Given the description of an element on the screen output the (x, y) to click on. 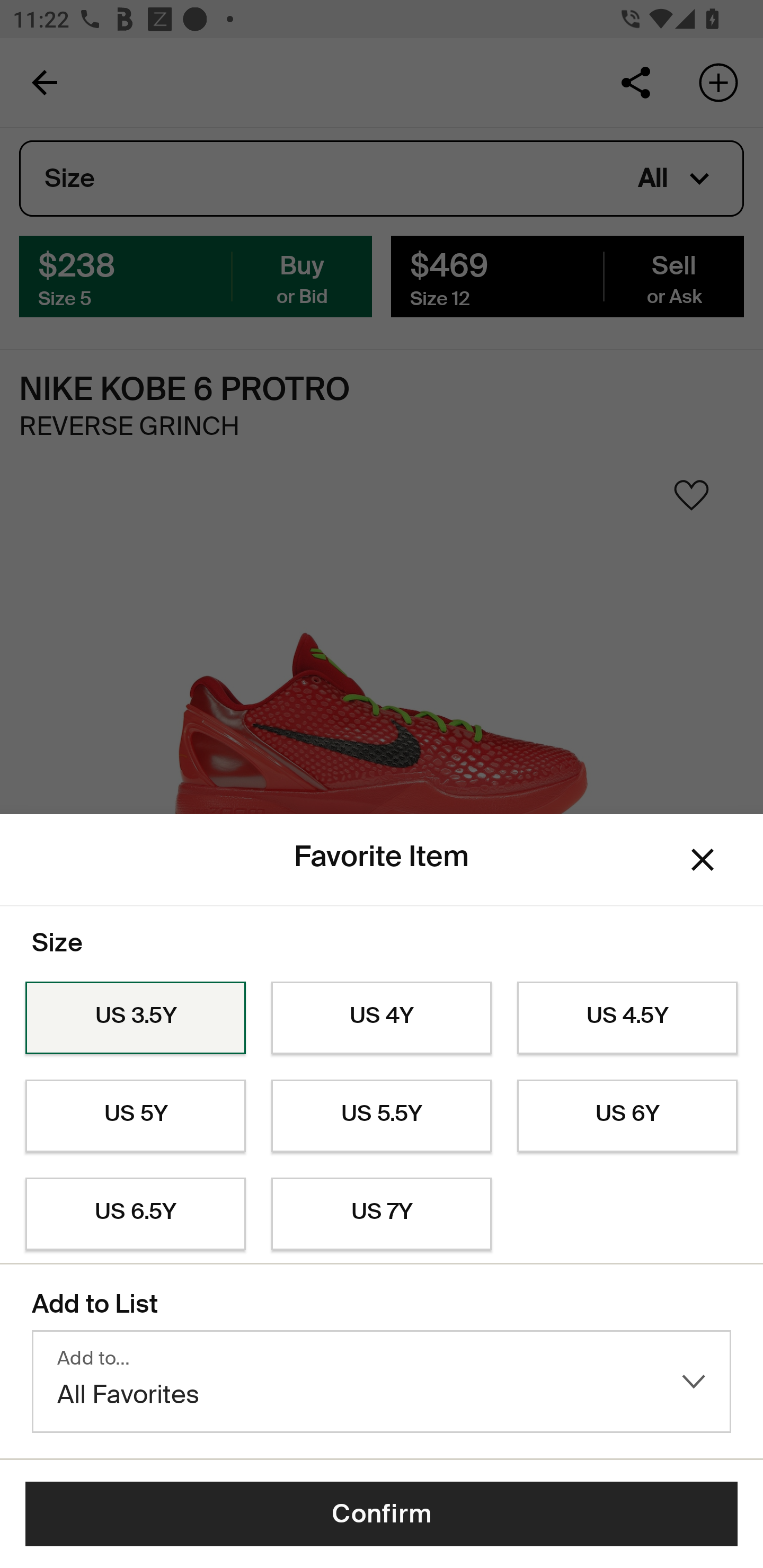
Dismiss (702, 859)
US 3.5Y (135, 1018)
US 4Y (381, 1018)
US 4.5Y (627, 1018)
US 5Y (135, 1116)
US 5.5Y (381, 1116)
US 6Y (627, 1116)
US 6.5Y (135, 1214)
US 7Y (381, 1214)
Add to… All Favorites (381, 1381)
Confirm (381, 1513)
